Given the description of an element on the screen output the (x, y) to click on. 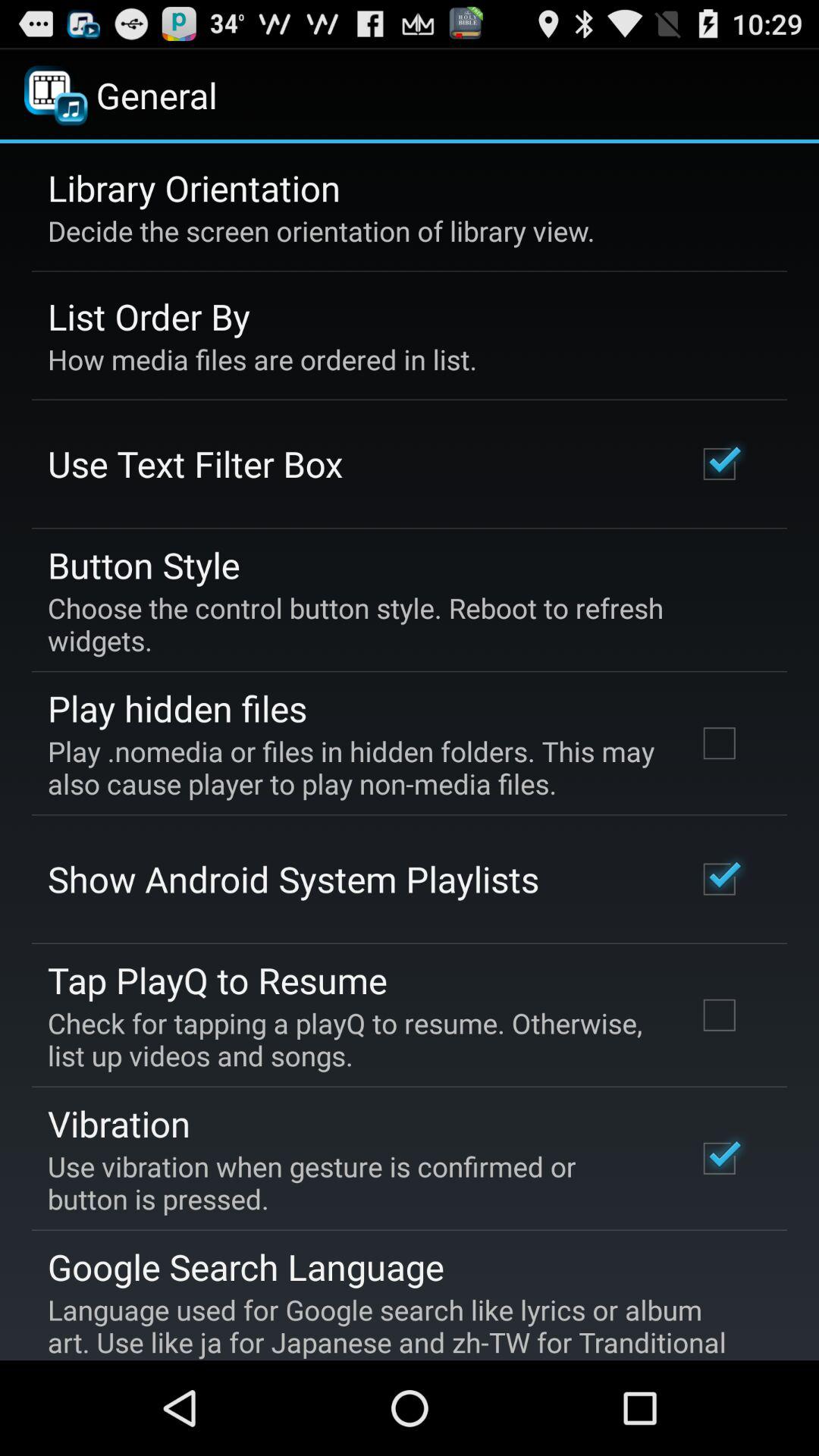
turn on item below google search language (399, 1325)
